Given the description of an element on the screen output the (x, y) to click on. 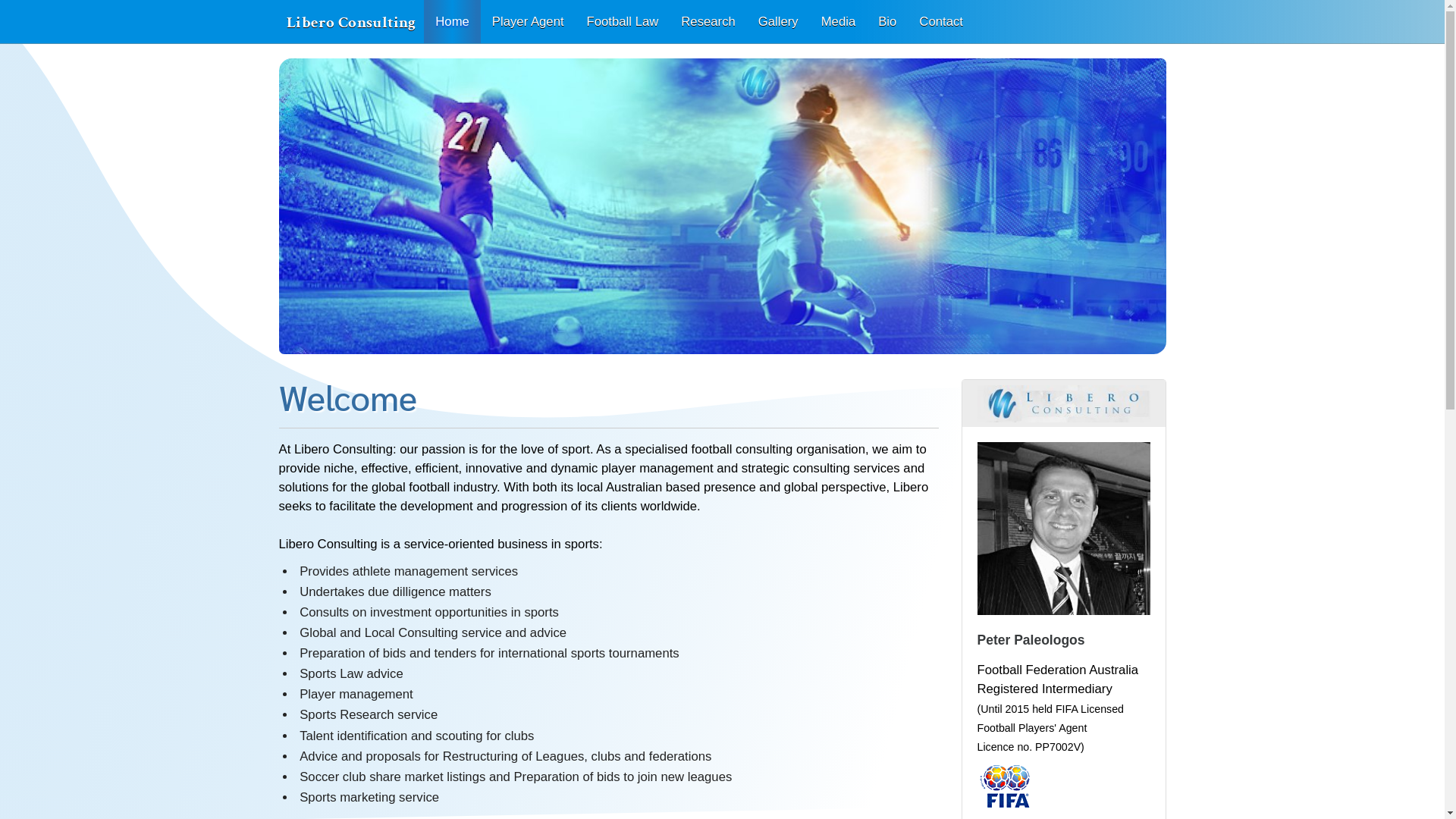
FIFA Acredited Intermediary Element type: hover (1003, 791)
Gallery Element type: text (777, 21)
Football Law Element type: text (622, 21)
Player Agent Element type: text (527, 21)
Research Element type: text (707, 21)
Home Element type: text (451, 21)
Bio Element type: text (886, 21)
Contact Element type: text (940, 21)
Libero Consulting Element type: text (351, 22)
Media Element type: text (838, 21)
Peter's Bio Element type: hover (1062, 528)
